Given the description of an element on the screen output the (x, y) to click on. 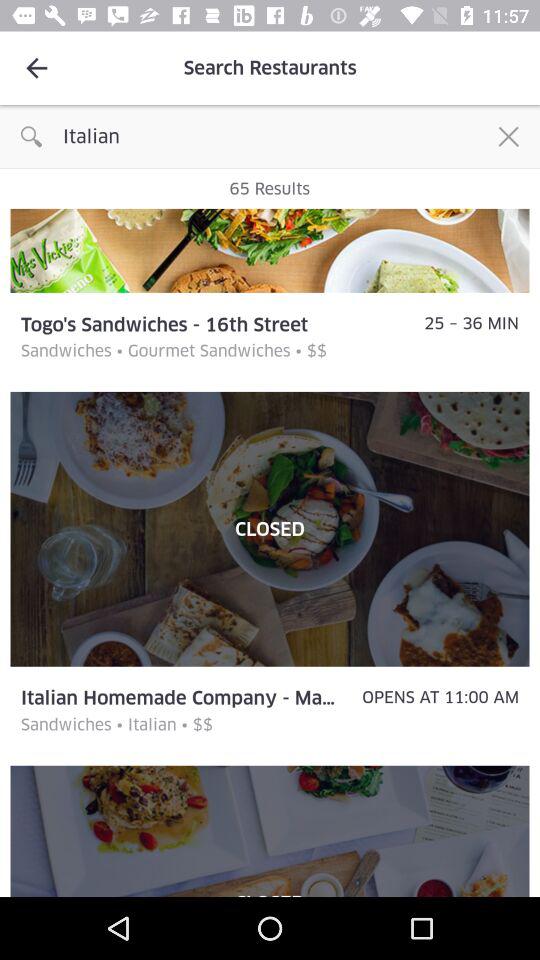
click the icon next to the italian item (508, 136)
